Given the description of an element on the screen output the (x, y) to click on. 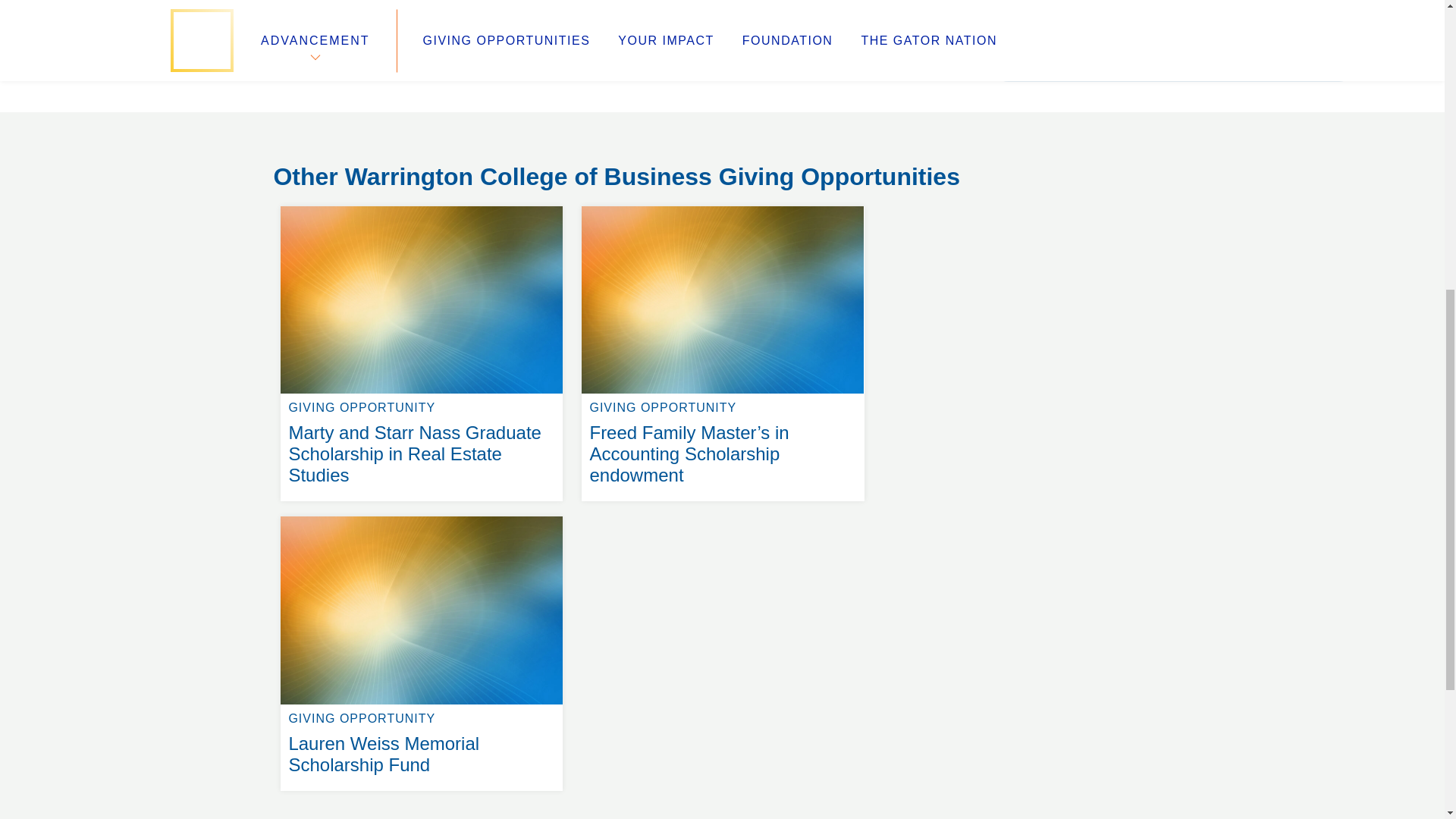
Privacy Policy (545, 136)
Join Our Team (317, 99)
Contact Us (306, 154)
Advancement Toolkit (565, 118)
Complete My Gift (1173, 48)
University of Florida (421, 516)
Staff Directory (840, 99)
Advancement HUB (316, 118)
Foundation Board (560, 99)
Disclosures (327, 136)
